Given the description of an element on the screen output the (x, y) to click on. 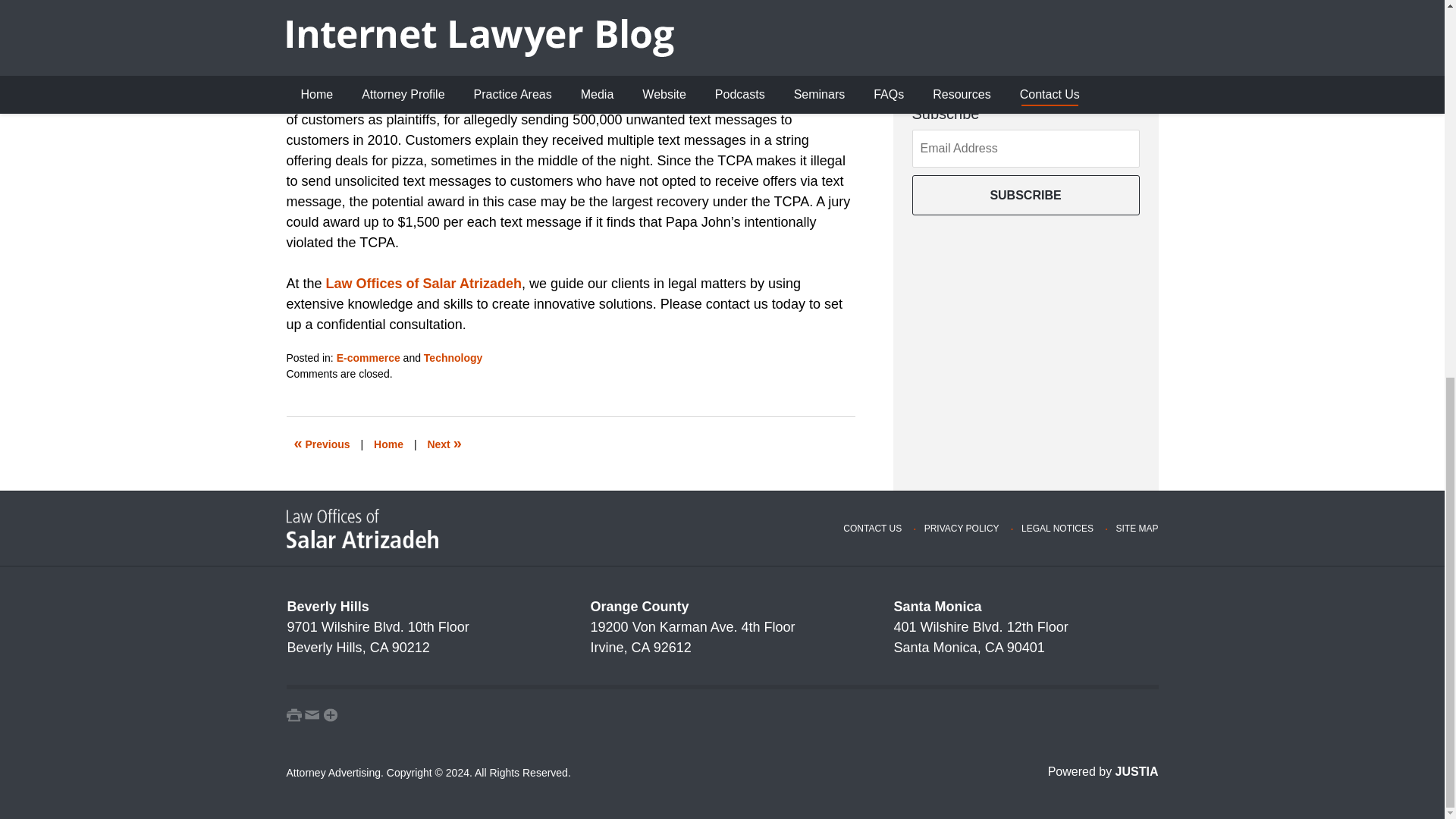
View all posts in Technology (453, 357)
Print this page (293, 714)
View all posts in E-commerce (368, 357)
Email this page (312, 714)
Add to Favorites (330, 714)
